Given the description of an element on the screen output the (x, y) to click on. 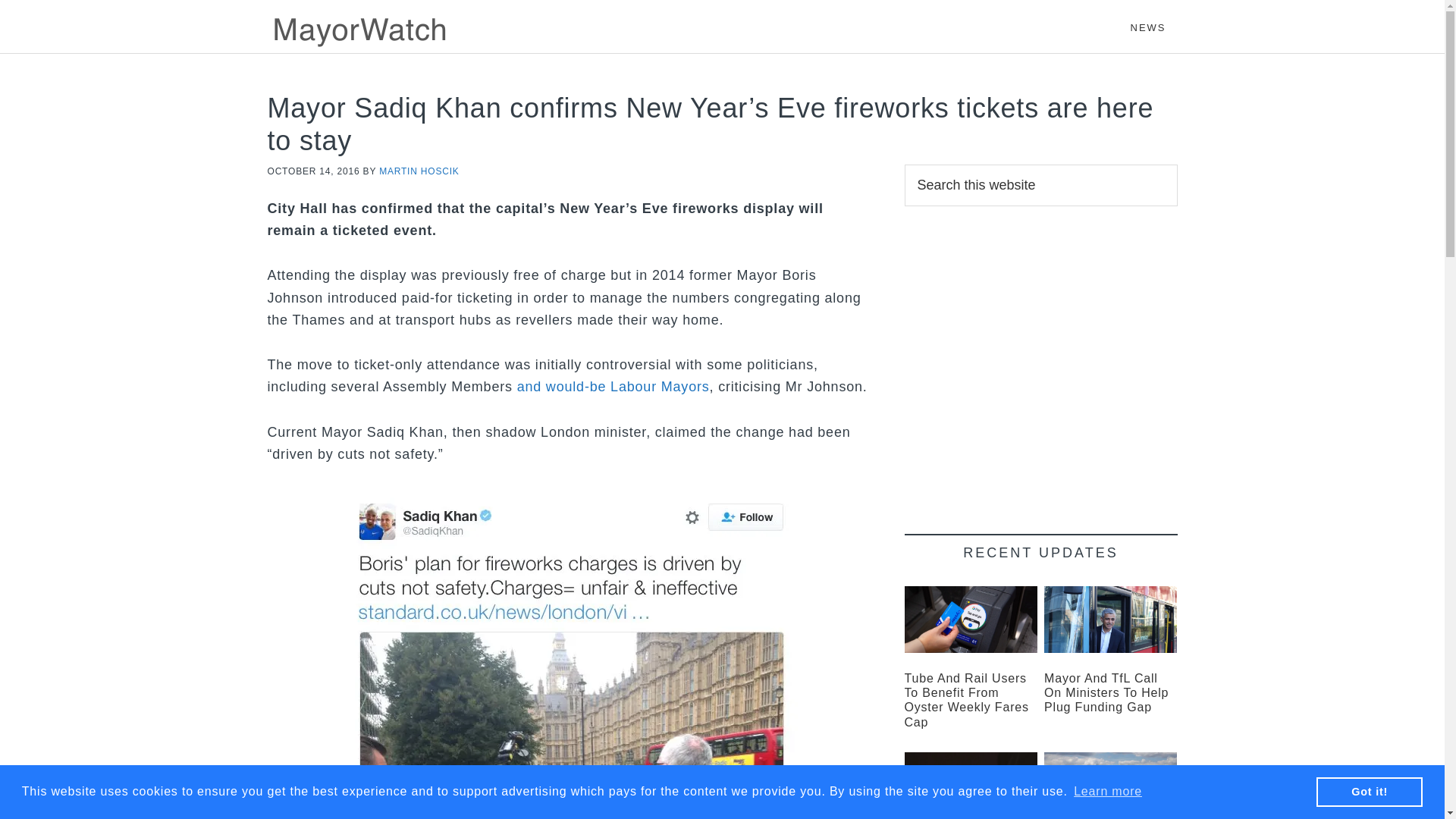
Got it! (1369, 791)
MARTIN HOSCIK (419, 171)
Mayor and TfL call on ministers to help plug funding gap (1106, 692)
and would-be Labour Mayors (613, 386)
NEWS (1148, 20)
Tube and rail users to benefit from Oyster weekly fares cap (970, 619)
Mayor And TfL Call On Ministers To Help Plug Funding Gap (1106, 692)
Tube to get full mobile phone coverage from 2024 (970, 785)
MayorWatch (403, 30)
Advertisement (1039, 357)
Learn more (1107, 791)
Mayor and TfL call on ministers to help plug funding gap (1109, 619)
